Given the description of an element on the screen output the (x, y) to click on. 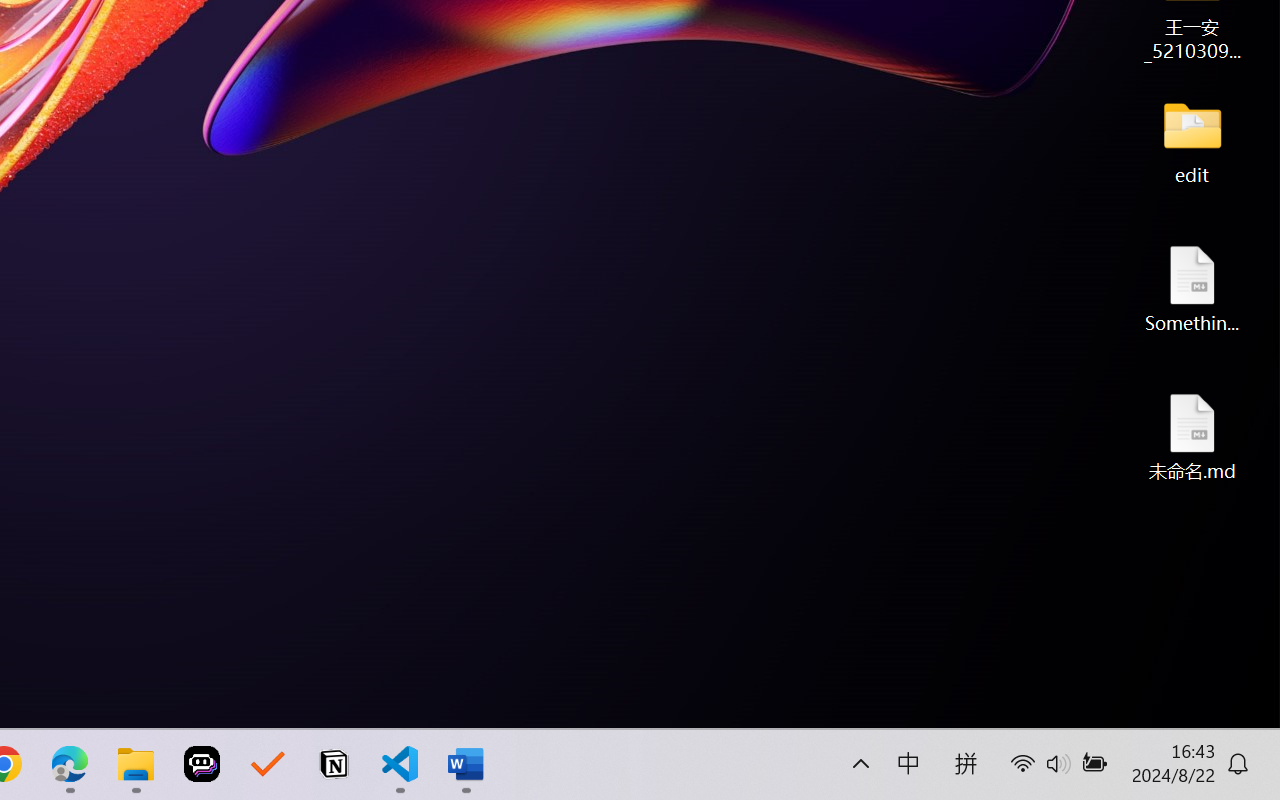
edit (1192, 140)
